Given the description of an element on the screen output the (x, y) to click on. 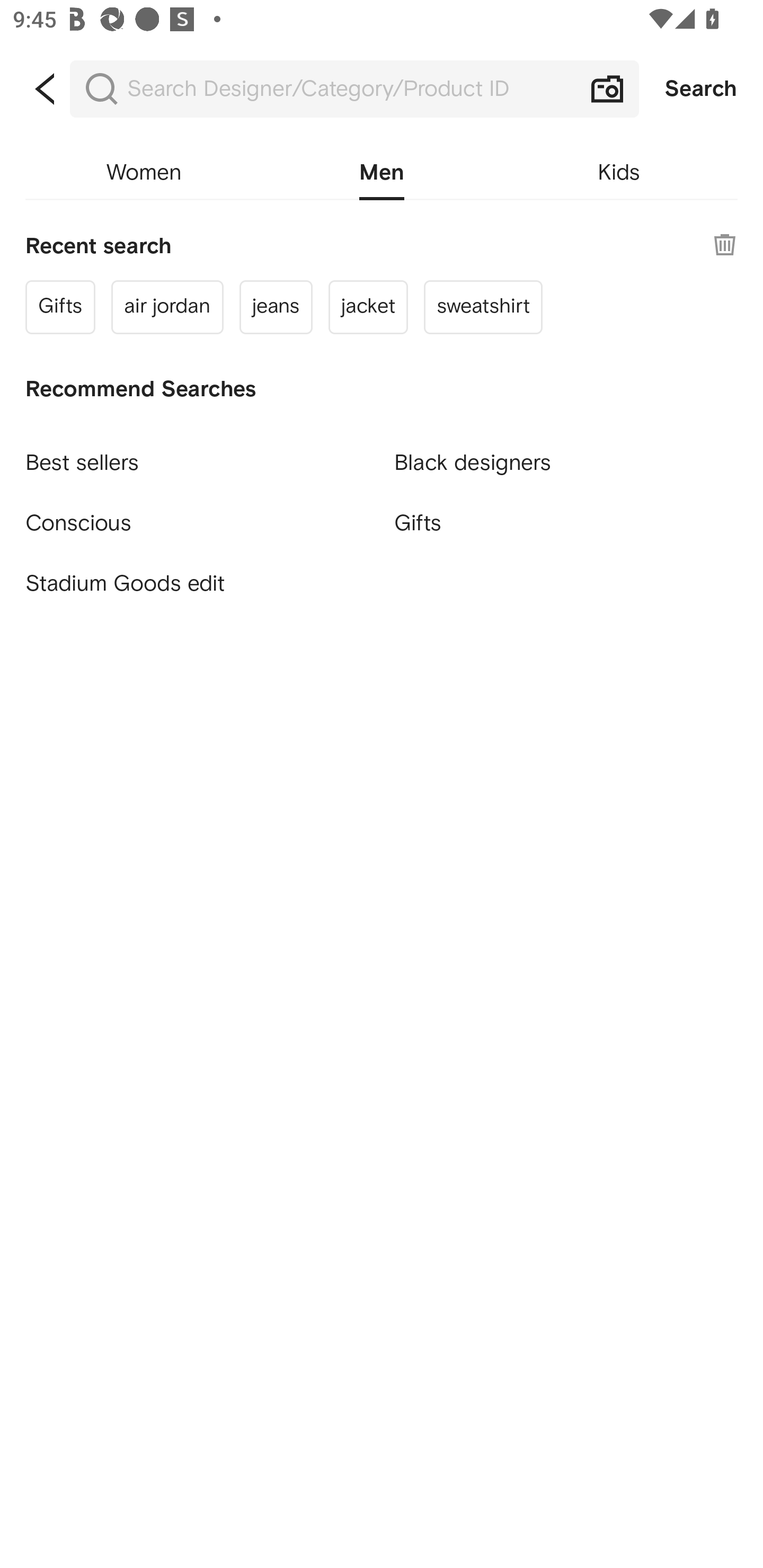
Search (701, 89)
Women (143, 172)
Kids (618, 172)
Gifts (60, 306)
air jordan (166, 306)
jeans (276, 306)
jacket (368, 306)
sweatshirt (482, 306)
Best sellers (196, 454)
Black designers (565, 454)
Conscious (196, 514)
Gifts (565, 522)
Stadium Goods edit (196, 583)
